Given the description of an element on the screen output the (x, y) to click on. 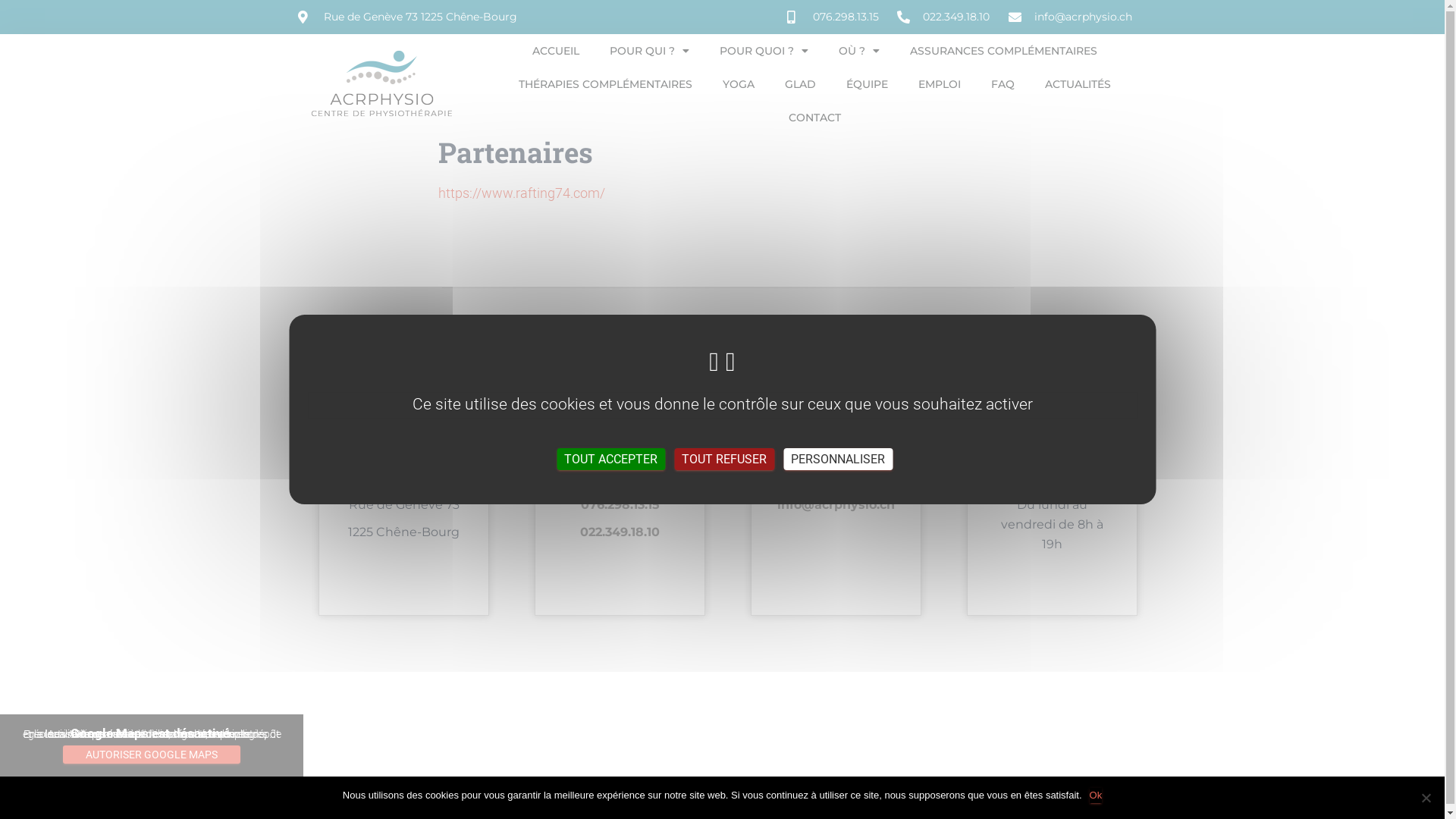
Impressum Element type: text (680, 805)
PERSONNALISER Element type: text (837, 459)
EMPLOI Element type: text (938, 83)
POUR QUI ? Element type: text (649, 50)
076.298.13.15 Element type: text (832, 16)
GLAD Element type: text (799, 83)
https://www.rafting74.com/ Element type: text (521, 192)
Ok Element type: text (1095, 795)
022.349.18.10 Element type: text (943, 16)
Non Element type: hover (1425, 797)
info@acrphysio.ch Element type: text (1070, 16)
POUR QUOI ? Element type: text (762, 50)
info@acrphysio.ch Element type: text (835, 504)
TOUT REFUSER Element type: text (724, 459)
022.349.18.10 Element type: text (619, 531)
FAQ Element type: text (1002, 83)
YOGA Element type: text (737, 83)
076.298.13.15 Element type: text (619, 504)
ACCUEIL Element type: text (555, 50)
Partenaires Element type: text (759, 805)
AUTORISER GOOGLE MAPS Element type: text (151, 754)
CONTACT Element type: text (814, 117)
TOUT ACCEPTER Element type: text (610, 459)
